Given the description of an element on the screen output the (x, y) to click on. 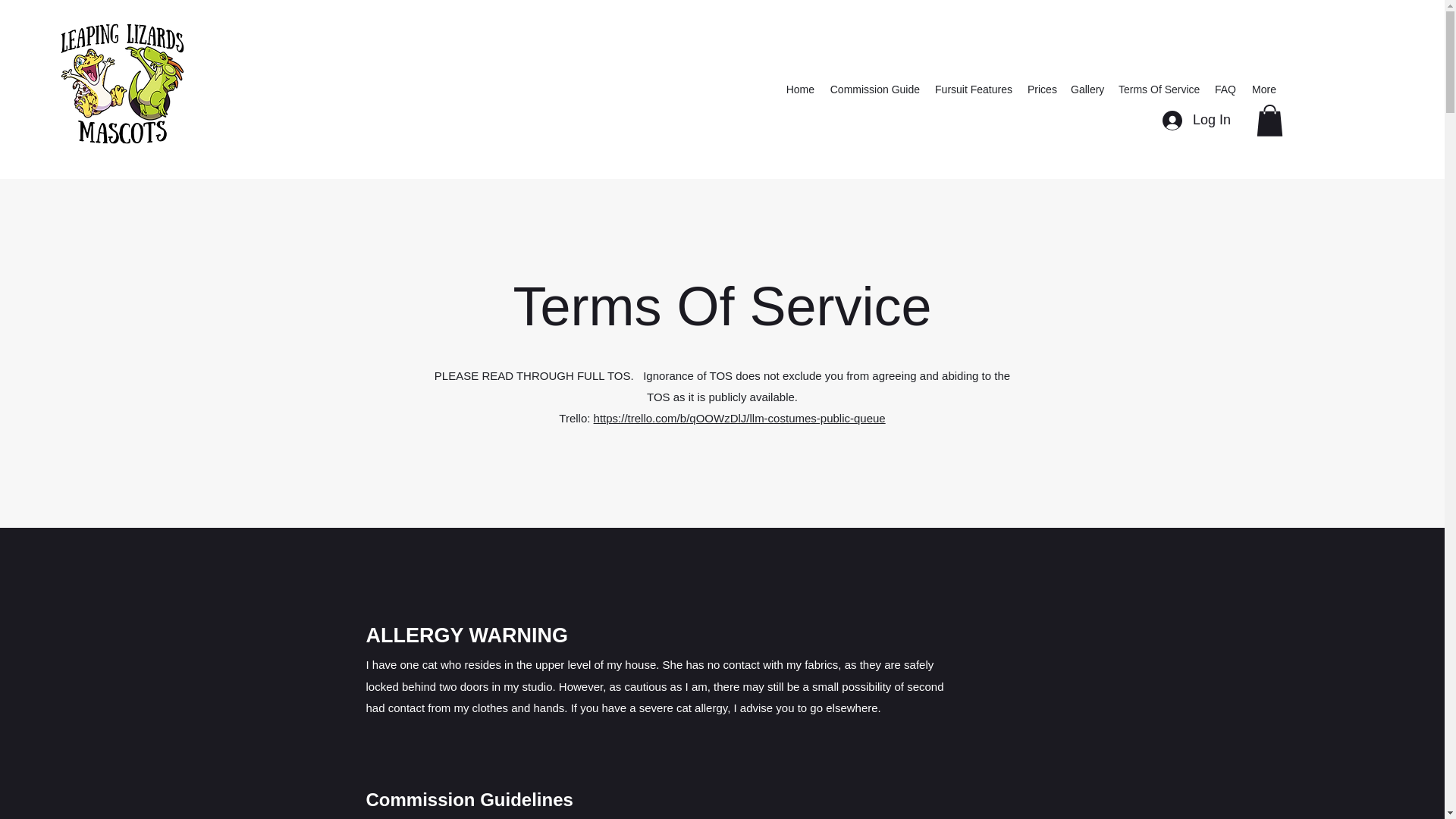
Gallery (1086, 88)
Prices (1041, 88)
FAQ (1225, 88)
Fursuit Features (973, 88)
Home (799, 88)
Commission Guide (874, 88)
Terms Of Service (1158, 88)
Log In (1196, 120)
